Given the description of an element on the screen output the (x, y) to click on. 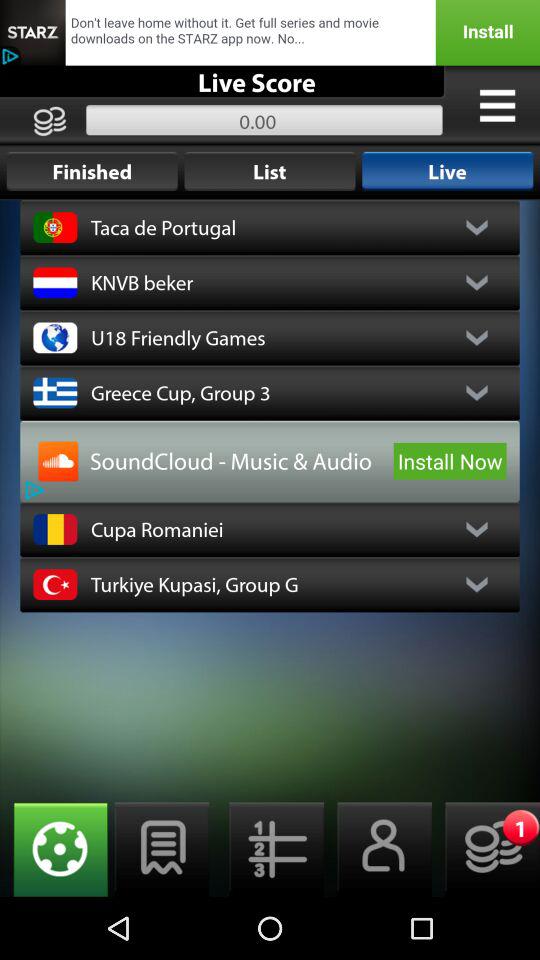
settings (270, 849)
